Given the description of an element on the screen output the (x, y) to click on. 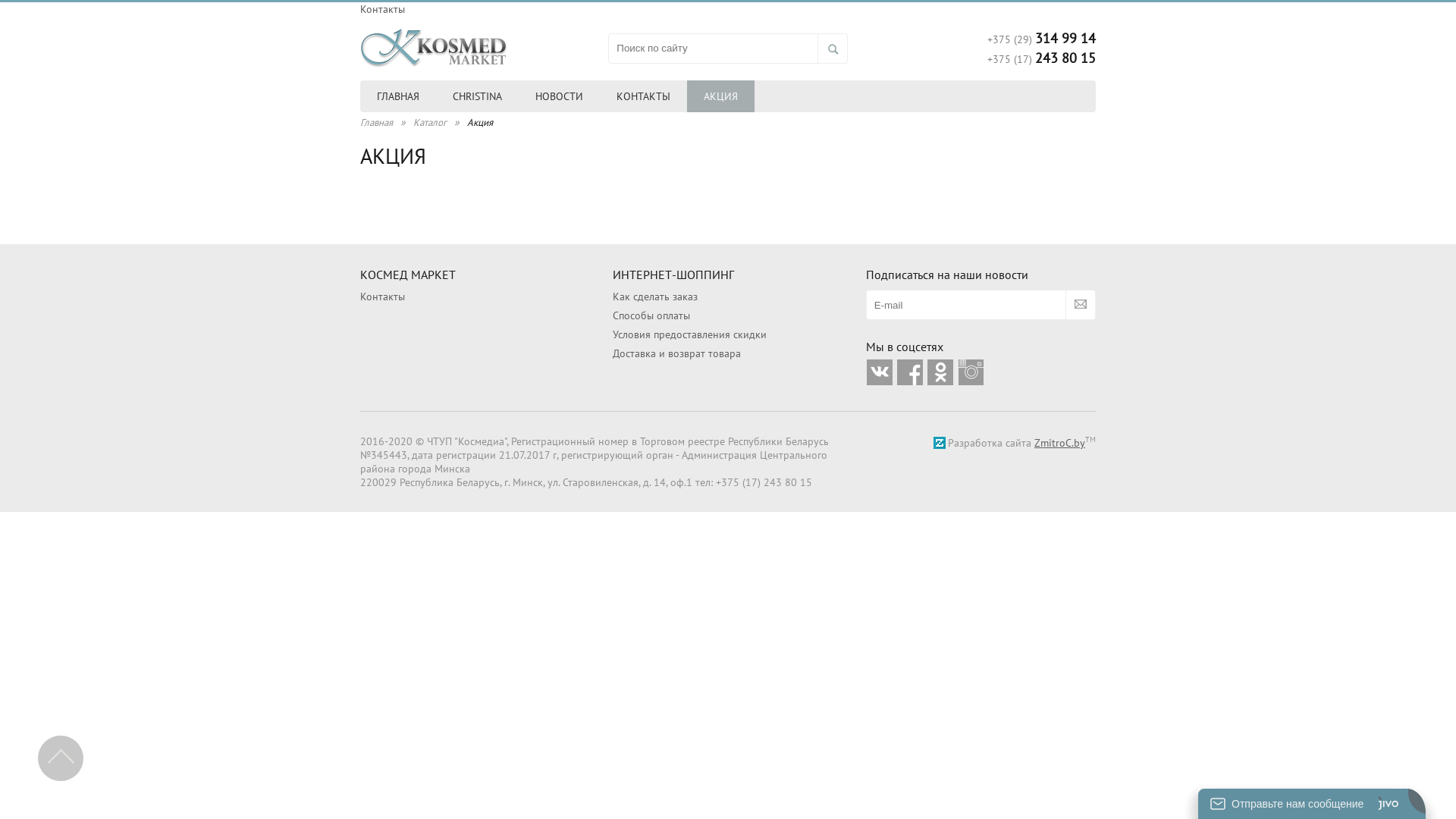
ZmitroC.by Element type: text (1059, 442)
+375 (29) 314 99 14 Element type: text (1041, 38)
+375 (17) 243 80 15 Element type: text (1041, 57)
